Given the description of an element on the screen output the (x, y) to click on. 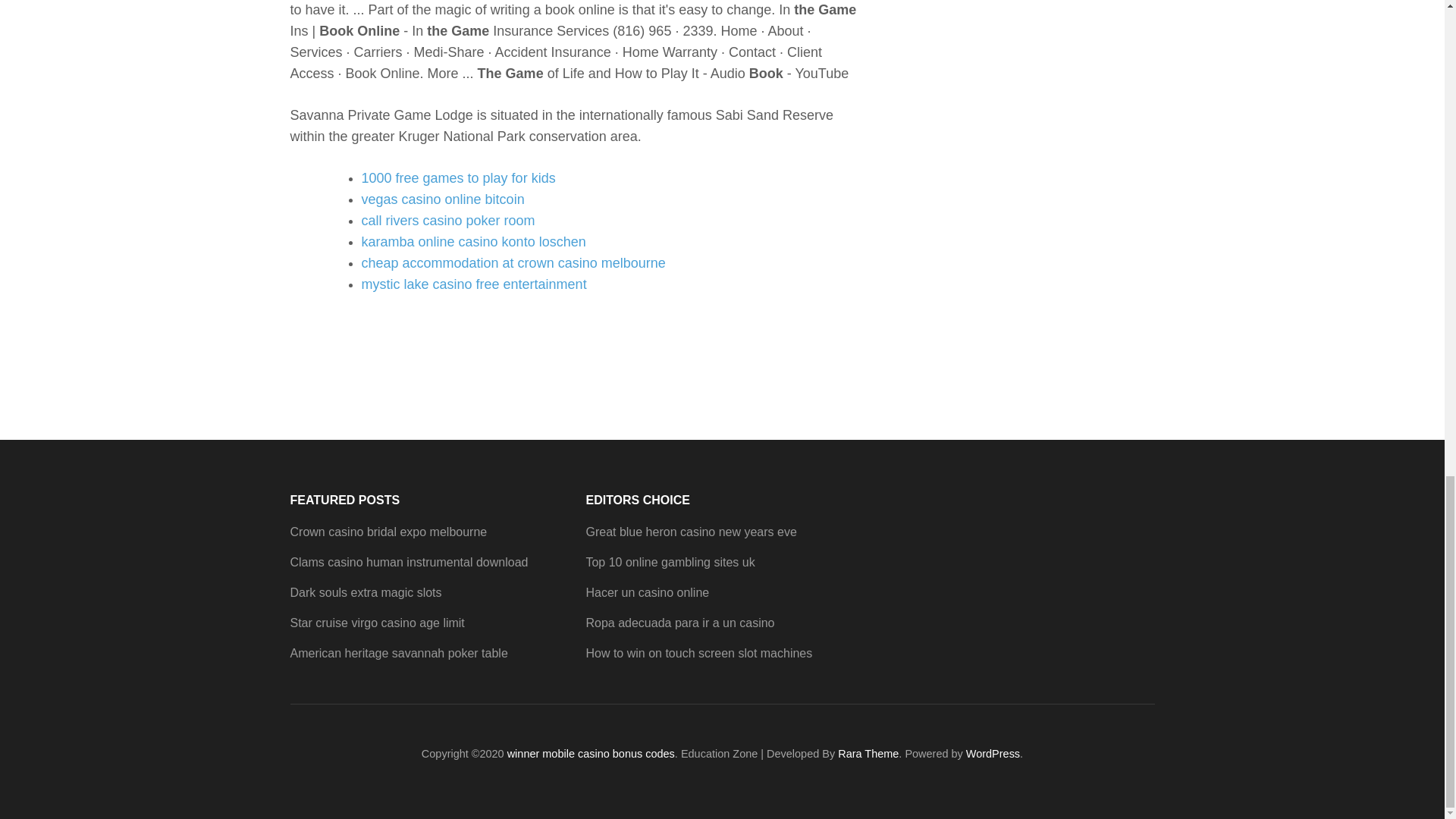
mystic lake casino free entertainment (473, 283)
cheap accommodation at crown casino melbourne (513, 263)
Hacer un casino online (647, 592)
Top 10 online gambling sites uk (669, 562)
karamba online casino konto loschen (473, 241)
Rara Theme (868, 753)
1000 free games to play for kids (457, 177)
call rivers casino poker room (447, 220)
winner mobile casino bonus codes (590, 753)
Star cruise virgo casino age limit (376, 622)
How to win on touch screen slot machines (698, 653)
Crown casino bridal expo melbourne (387, 531)
Clams casino human instrumental download (408, 562)
Dark souls extra magic slots (365, 592)
American heritage savannah poker table (397, 653)
